Given the description of an element on the screen output the (x, y) to click on. 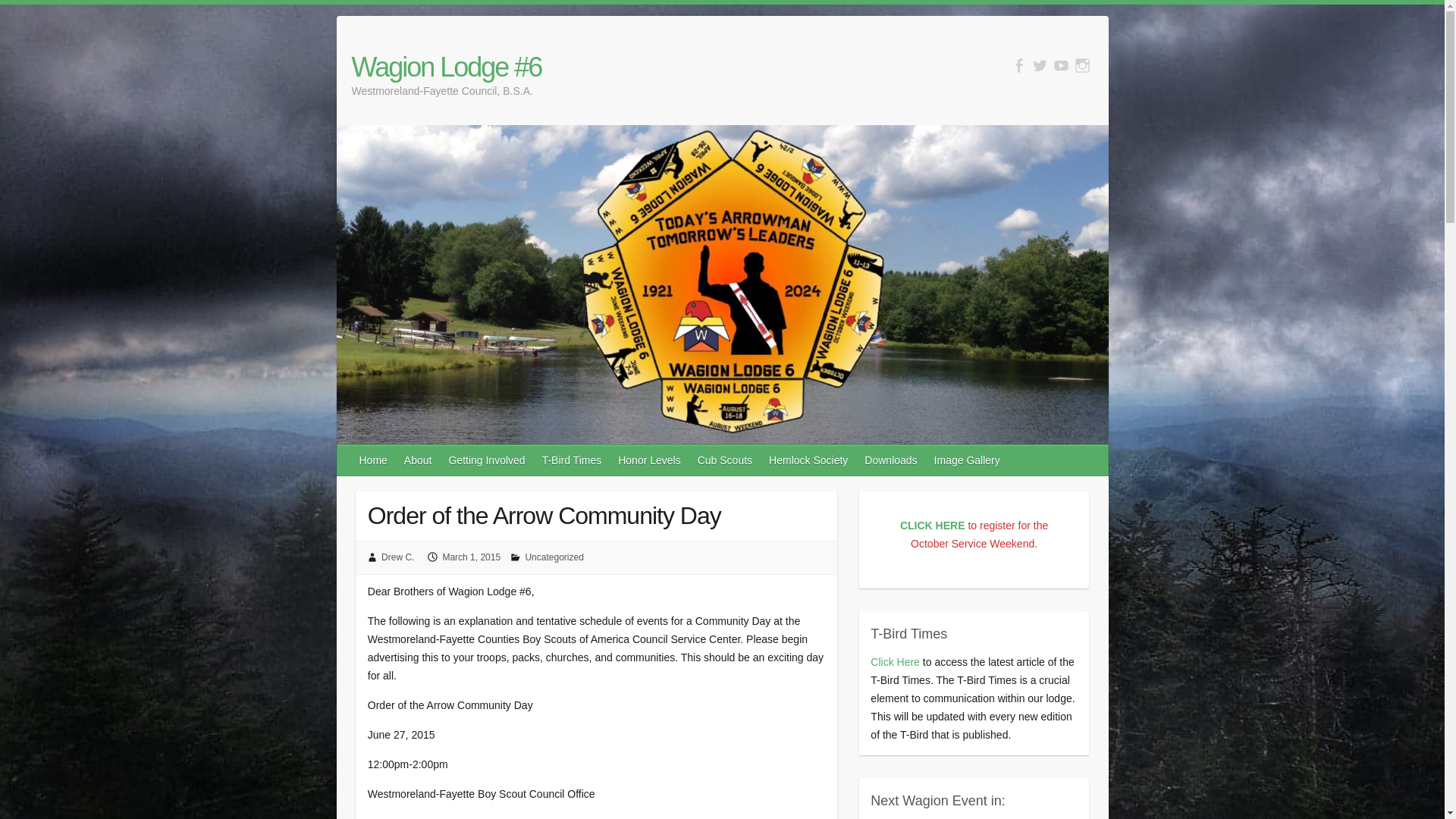
Image Gallery (967, 460)
About (418, 460)
Home (374, 460)
Uncategorized (553, 557)
Downloads (891, 460)
Getting Involved (487, 460)
Drew C. (397, 557)
Honor Levels (650, 460)
Hemlock Society (809, 460)
March 1, 2015 (471, 557)
